Given the description of an element on the screen output the (x, y) to click on. 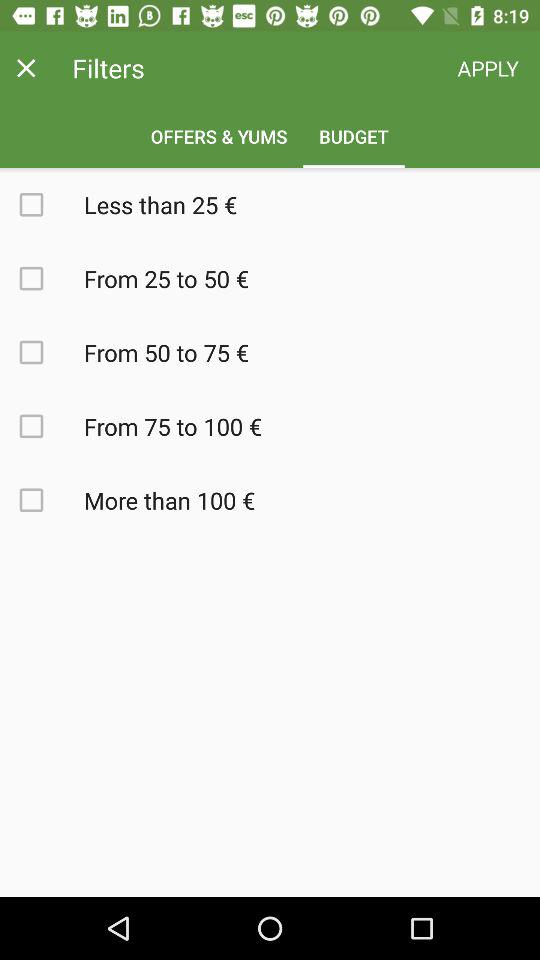
choose between 25 and 50 euros (41, 278)
